Given the description of an element on the screen output the (x, y) to click on. 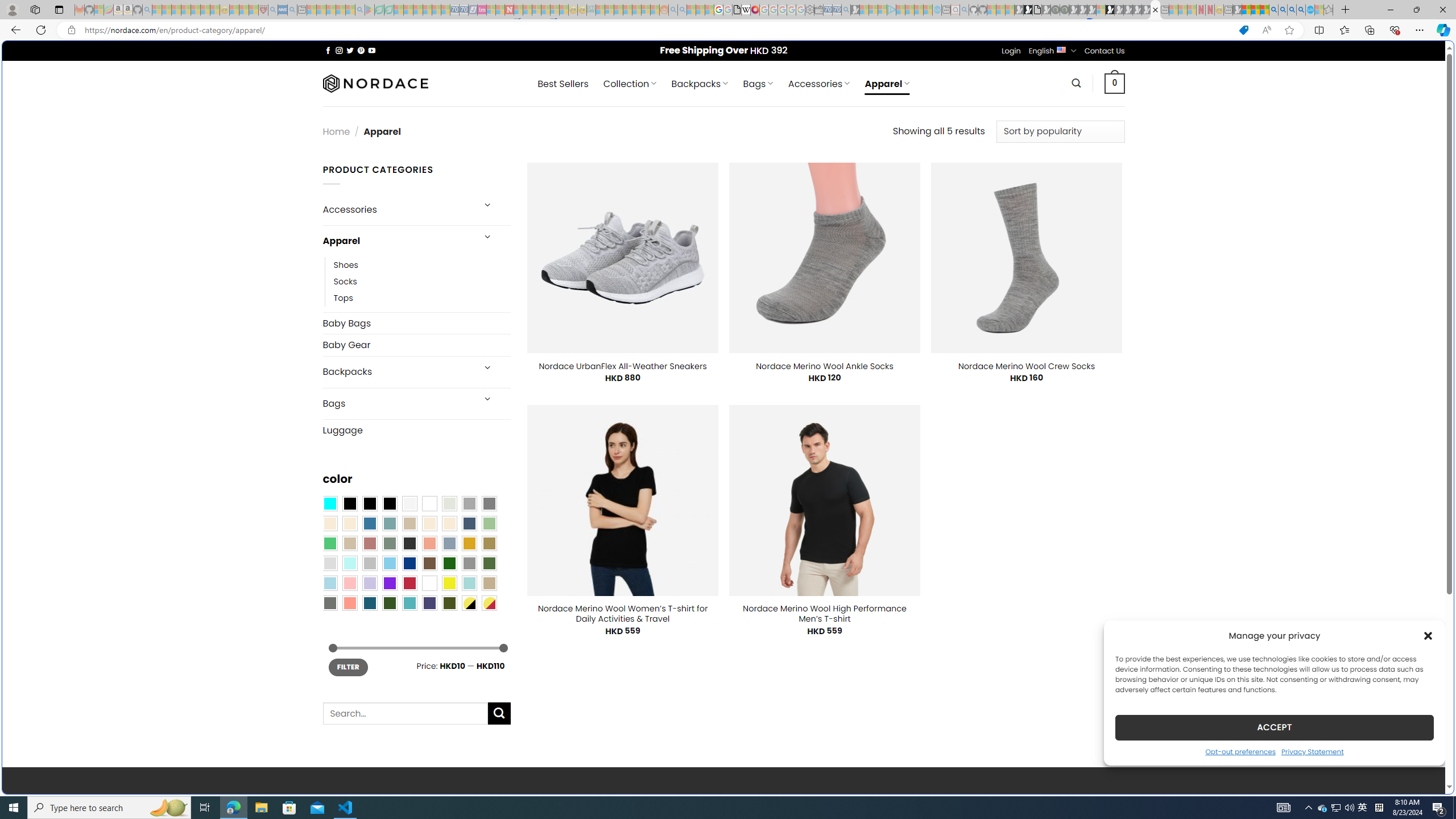
MediaWiki (754, 9)
Pets - MSN - Sleeping (340, 9)
Gray (468, 562)
The Weather Channel - MSN - Sleeping (175, 9)
Brown (429, 562)
Follow on Instagram (338, 49)
Contact Us (1104, 50)
